Given the description of an element on the screen output the (x, y) to click on. 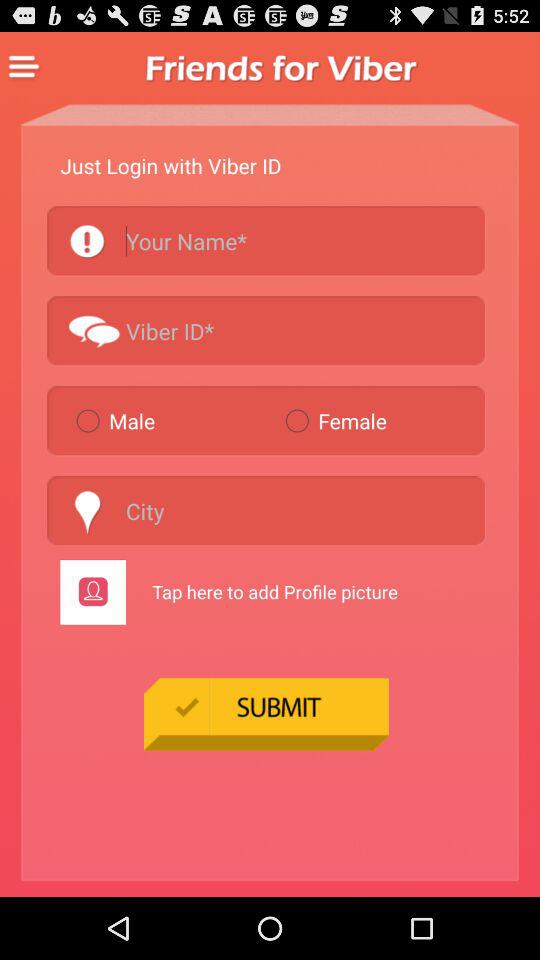
choose male (171, 420)
